Given the description of an element on the screen output the (x, y) to click on. 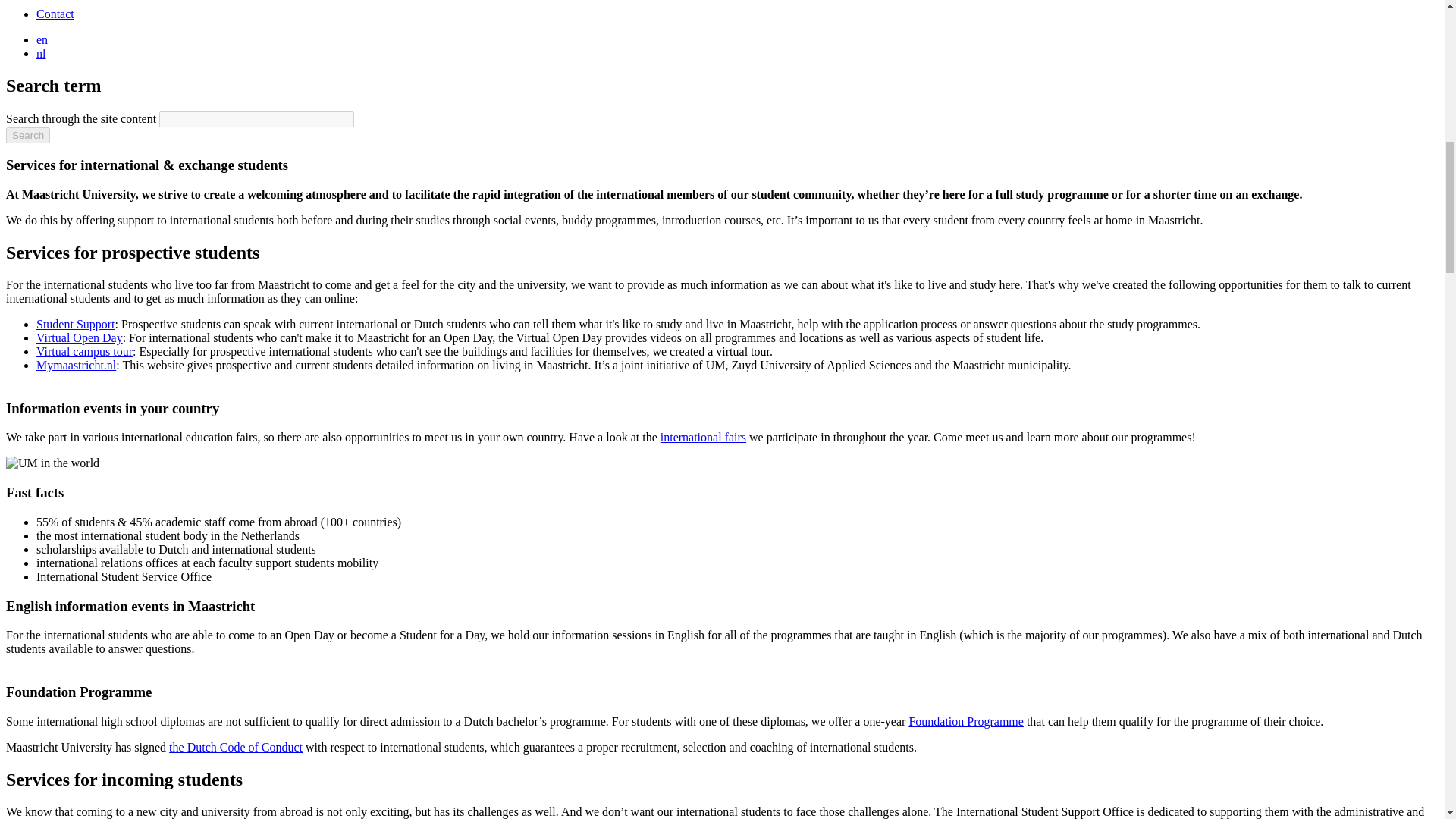
Search (27, 135)
the Dutch Code of Conduct (235, 747)
Search (27, 135)
Mymaastricht.nl (76, 364)
Foundation Programme (965, 721)
international fairs (703, 436)
Virtual Open Day (79, 337)
Virtual campus tour (84, 350)
Student Support (75, 323)
Contact (55, 13)
